Given the description of an element on the screen output the (x, y) to click on. 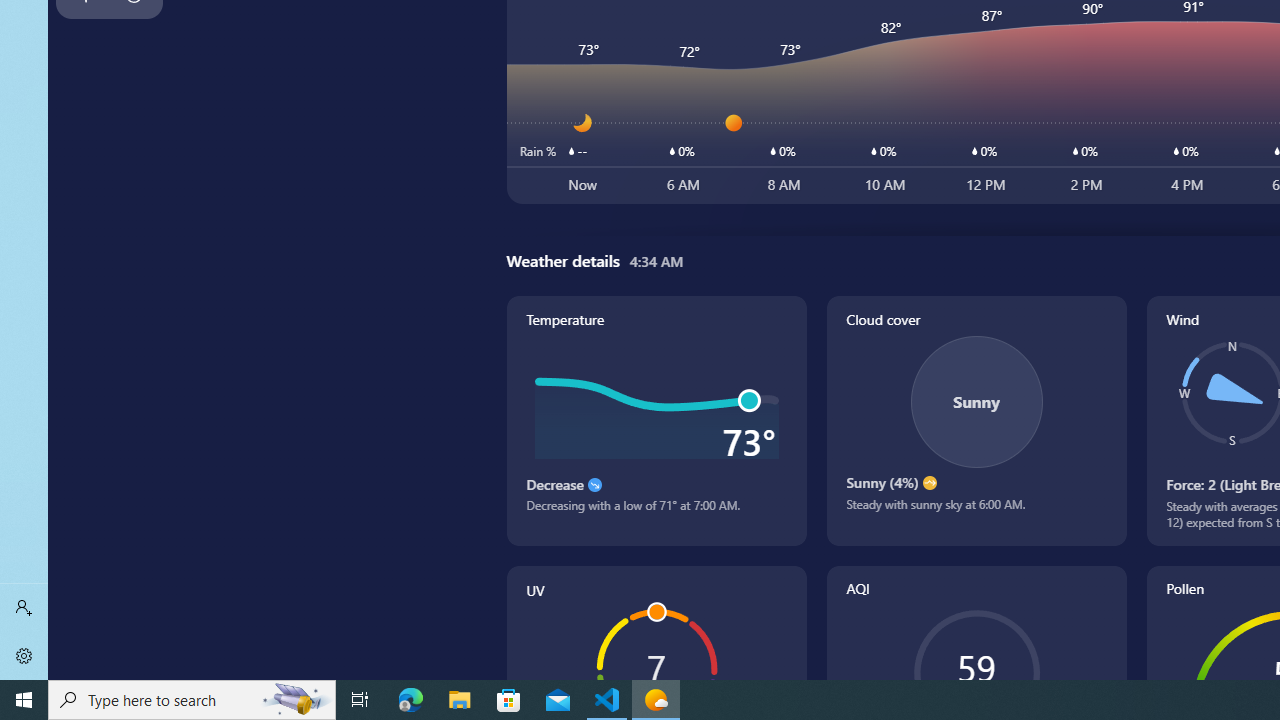
Weather - 1 running window (656, 699)
Settings (24, 655)
Sign in (24, 607)
